Given the description of an element on the screen output the (x, y) to click on. 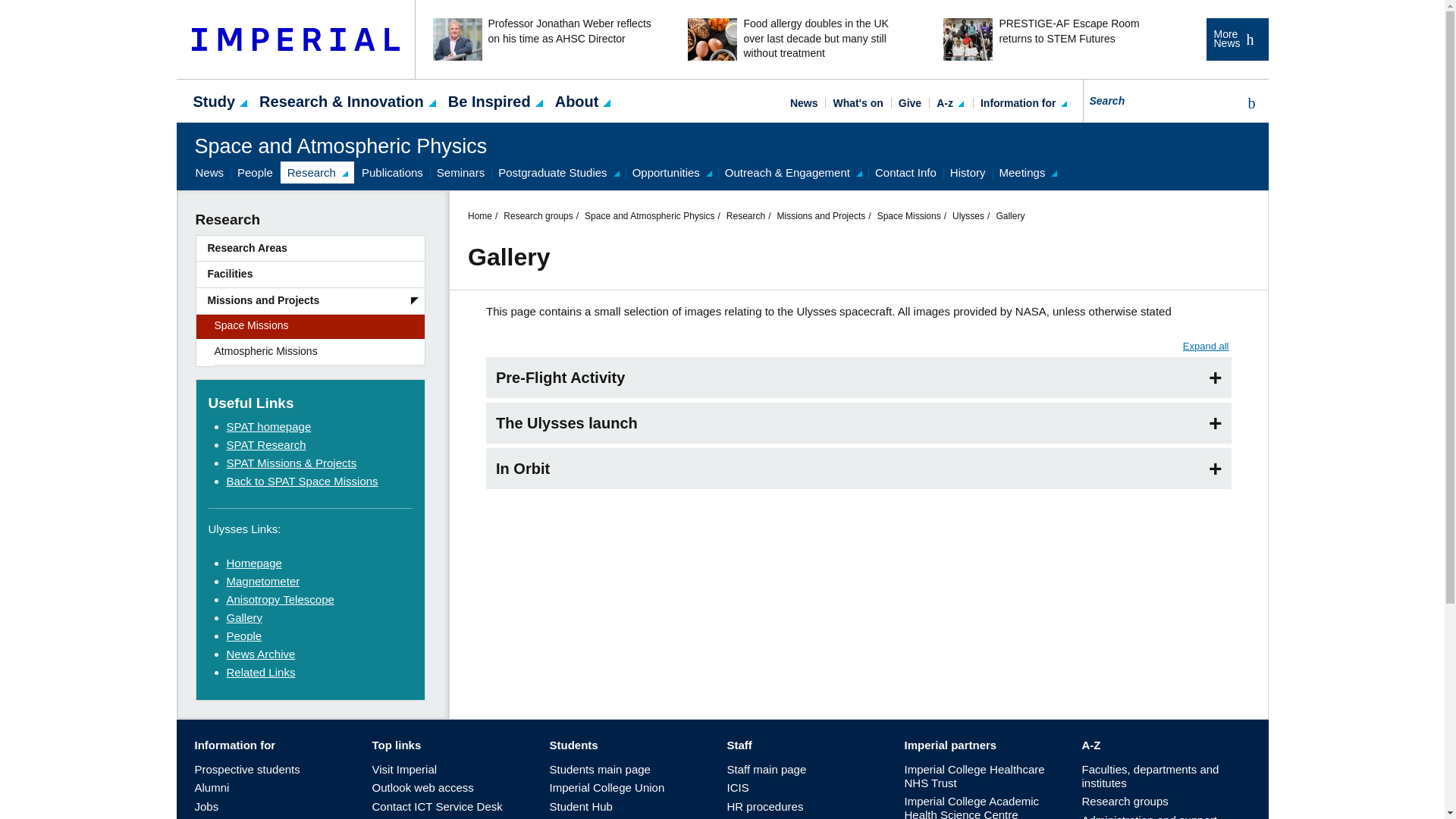
More News (1236, 39)
Study (213, 100)
PRESTIGE-AF Escape Room returns to STEM Futures (1053, 38)
Imperial College London (295, 39)
Imperial College London Home (295, 39)
Search for... (1161, 100)
